Given the description of an element on the screen output the (x, y) to click on. 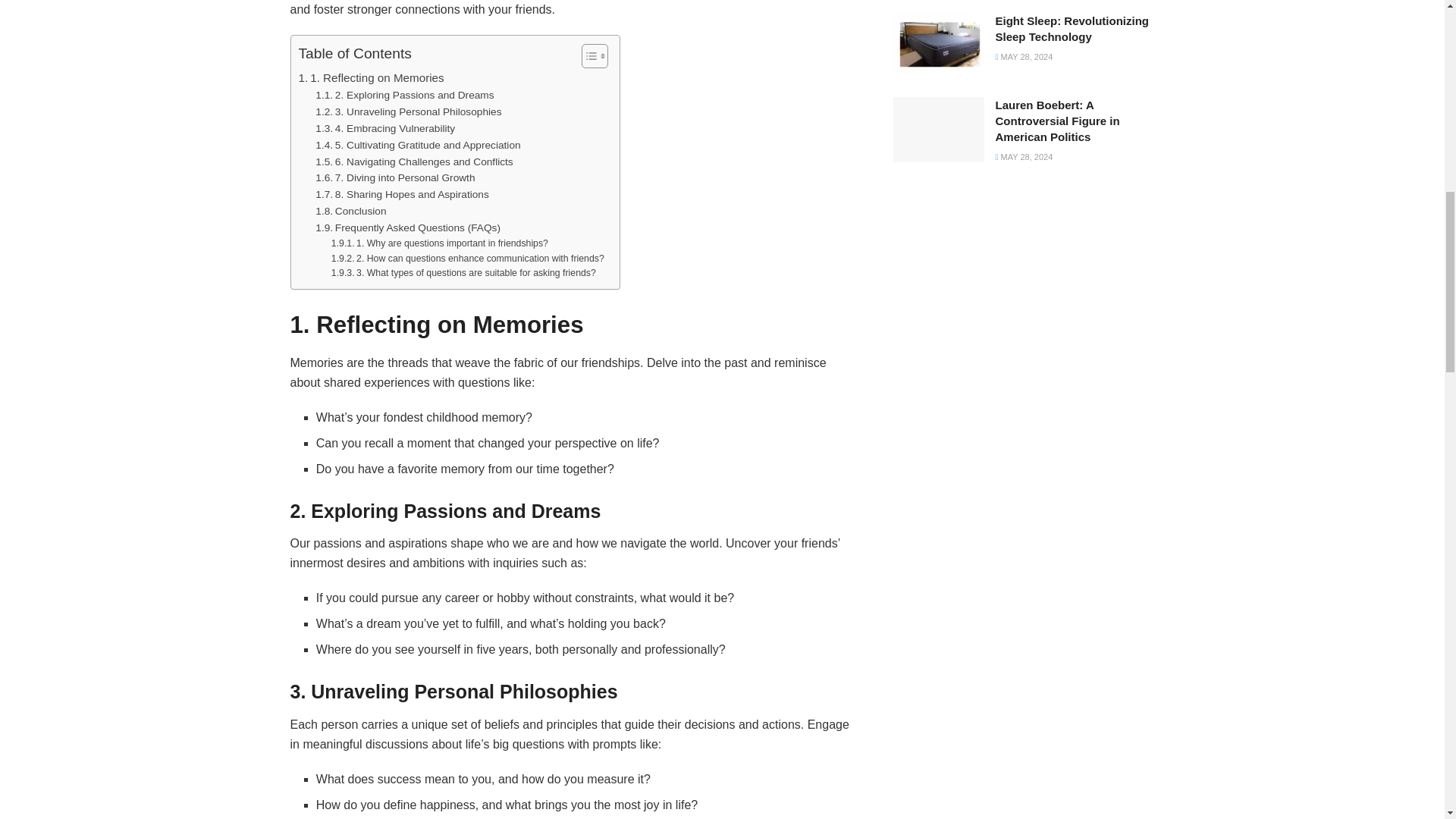
1. Why are questions important in friendships? (439, 243)
6. Navigating Challenges and Conflicts (413, 161)
8. Sharing Hopes and Aspirations (402, 194)
3. Unraveling Personal Philosophies (407, 112)
3. What types of questions are suitable for asking friends? (463, 273)
4. Embracing Vulnerability (384, 128)
5. Cultivating Gratitude and Appreciation (417, 145)
1. Reflecting on Memories (371, 77)
2. Exploring Passions and Dreams (404, 95)
7. Diving into Personal Growth (394, 177)
2. How can questions enhance communication with friends? (467, 258)
Conclusion (350, 211)
